Given the description of an element on the screen output the (x, y) to click on. 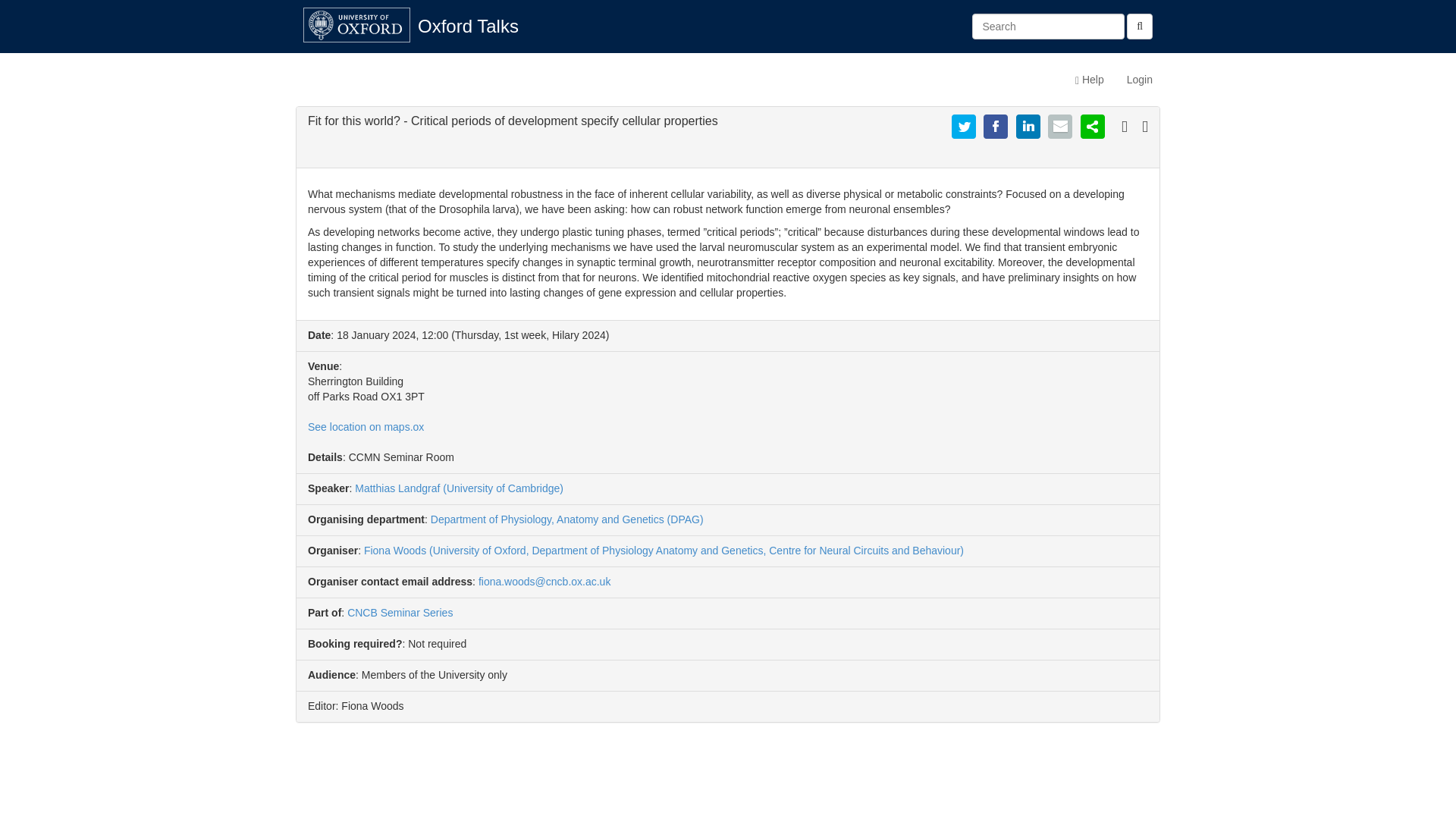
Help (1089, 79)
Login (1139, 79)
Oxford Talks (467, 26)
See location on maps.ox (365, 426)
CNCB Seminar Series (399, 612)
